Given the description of an element on the screen output the (x, y) to click on. 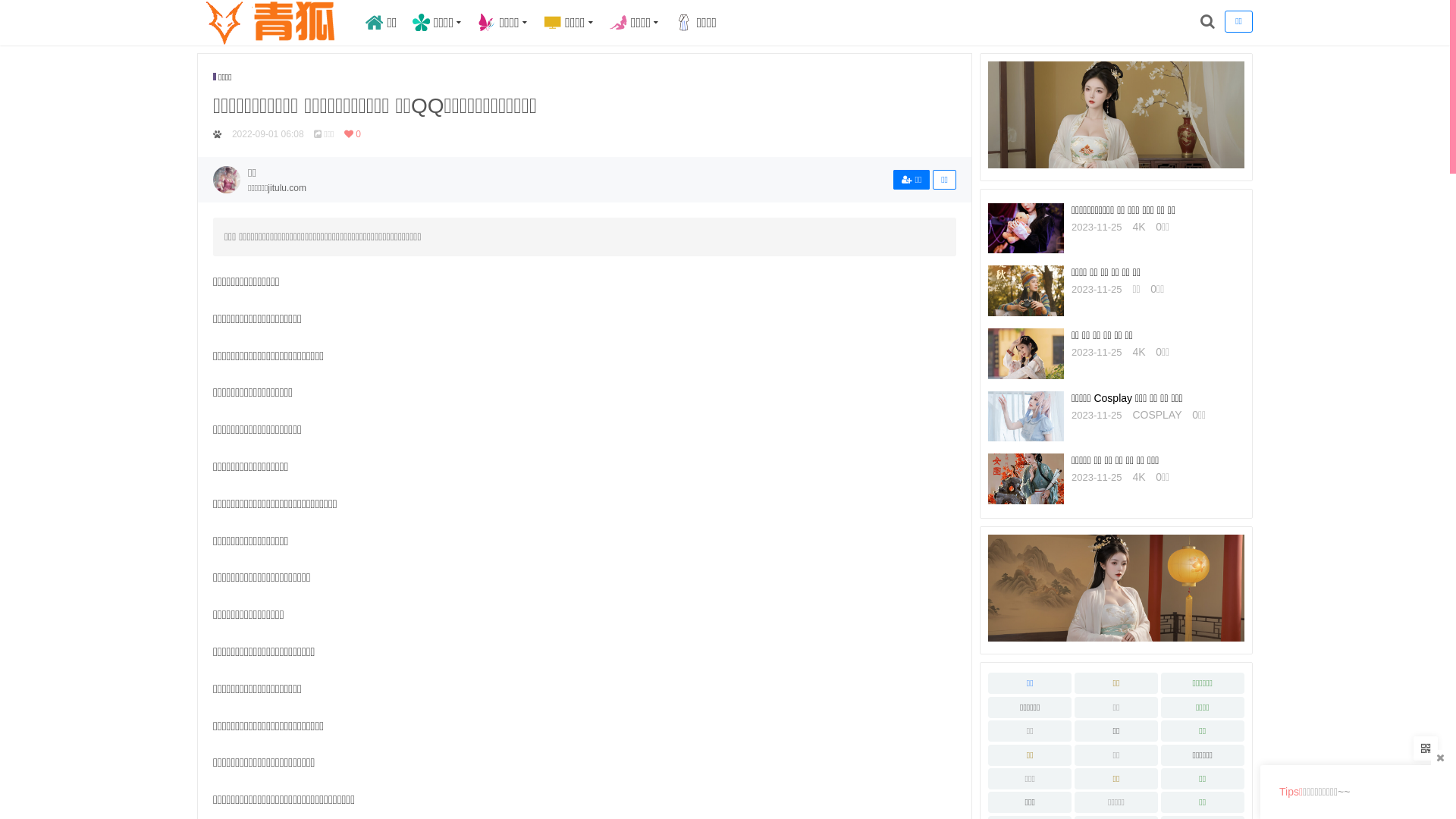
COSPLAY Element type: text (1156, 414)
4K Element type: text (1138, 476)
4K Element type: text (1138, 351)
4K Element type: text (1138, 226)
